Given the description of an element on the screen output the (x, y) to click on. 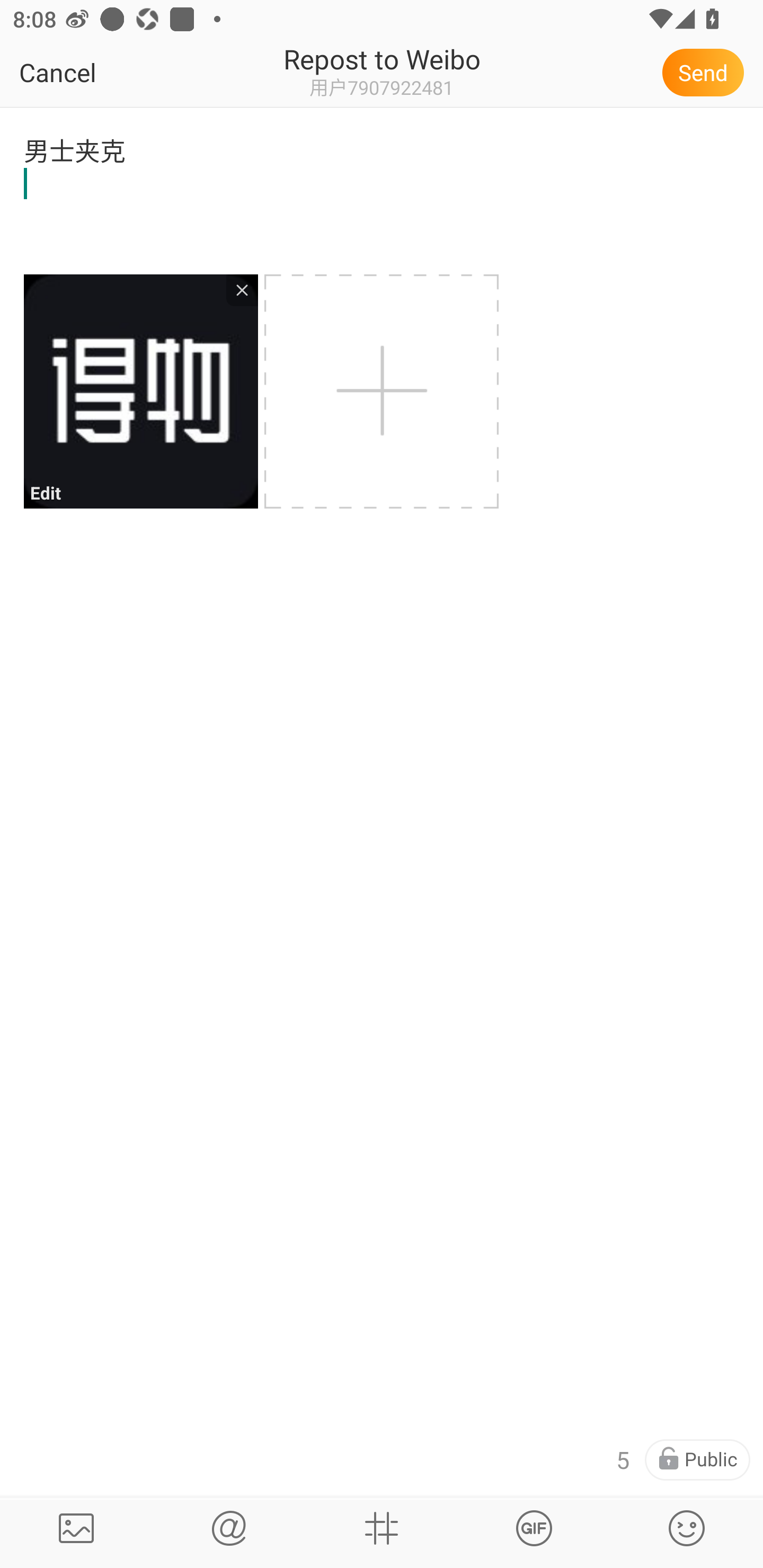
Cancel (99, 71)
Send (706, 71)
男士夹克
 (381, 179)
Edit (140, 391)
Meyou Public (697, 1459)
5 Number of words available: (621, 1459)
Pictures Upload (76, 1527)
Search (228, 1527)
Topics, movies, books, songs, places, stocks (381, 1527)
Topics, movies, books, songs, places, stocks (533, 1527)
请插入表情 (686, 1527)
